Given the description of an element on the screen output the (x, y) to click on. 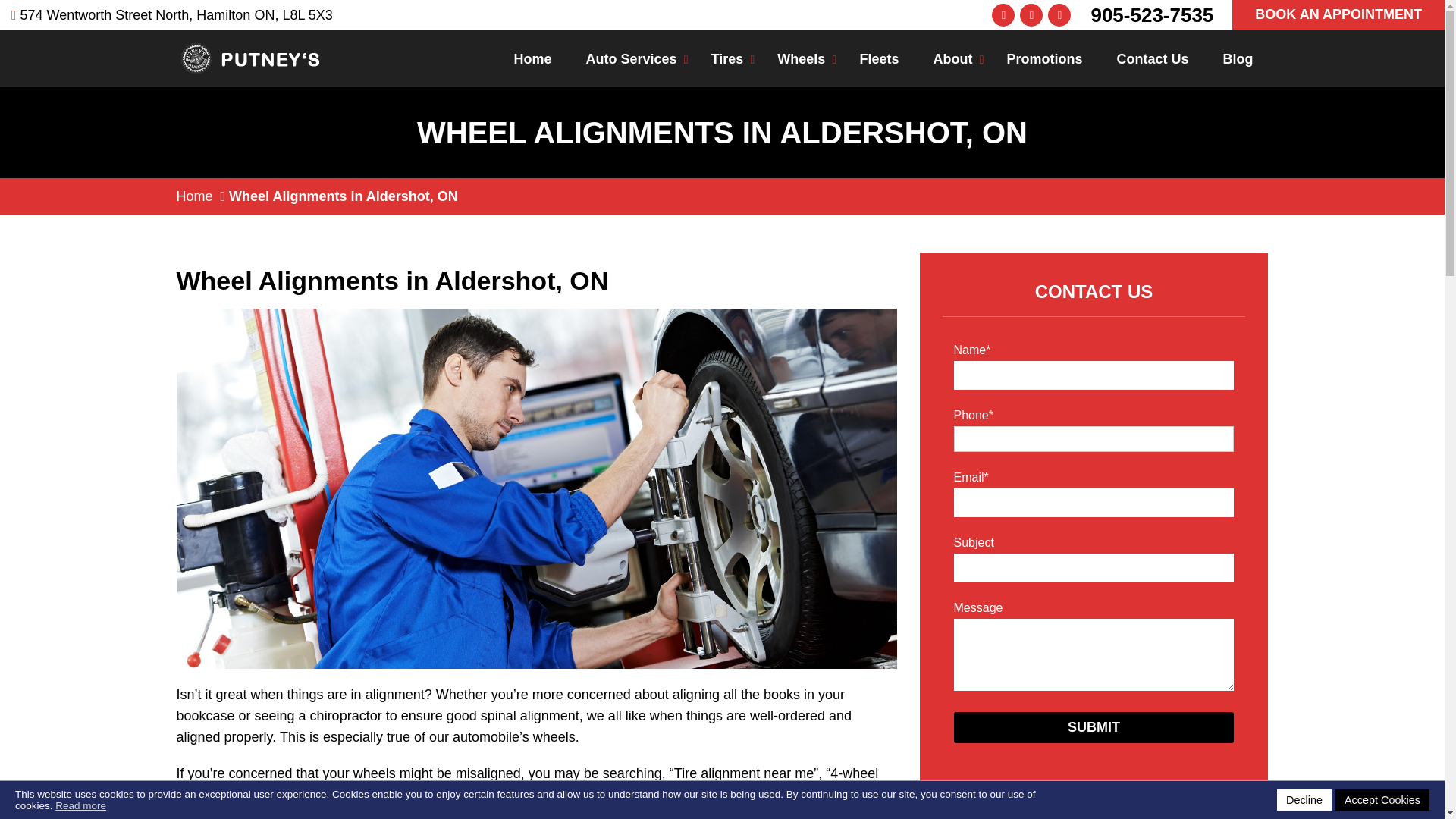
905-523-7535 (1151, 14)
Home (533, 58)
Submit (1093, 726)
BOOK AN APPOINTMENT (1337, 14)
Read more (80, 805)
Accept Cookies (1382, 799)
Auto Services (631, 58)
Decline (1304, 799)
